Given the description of an element on the screen output the (x, y) to click on. 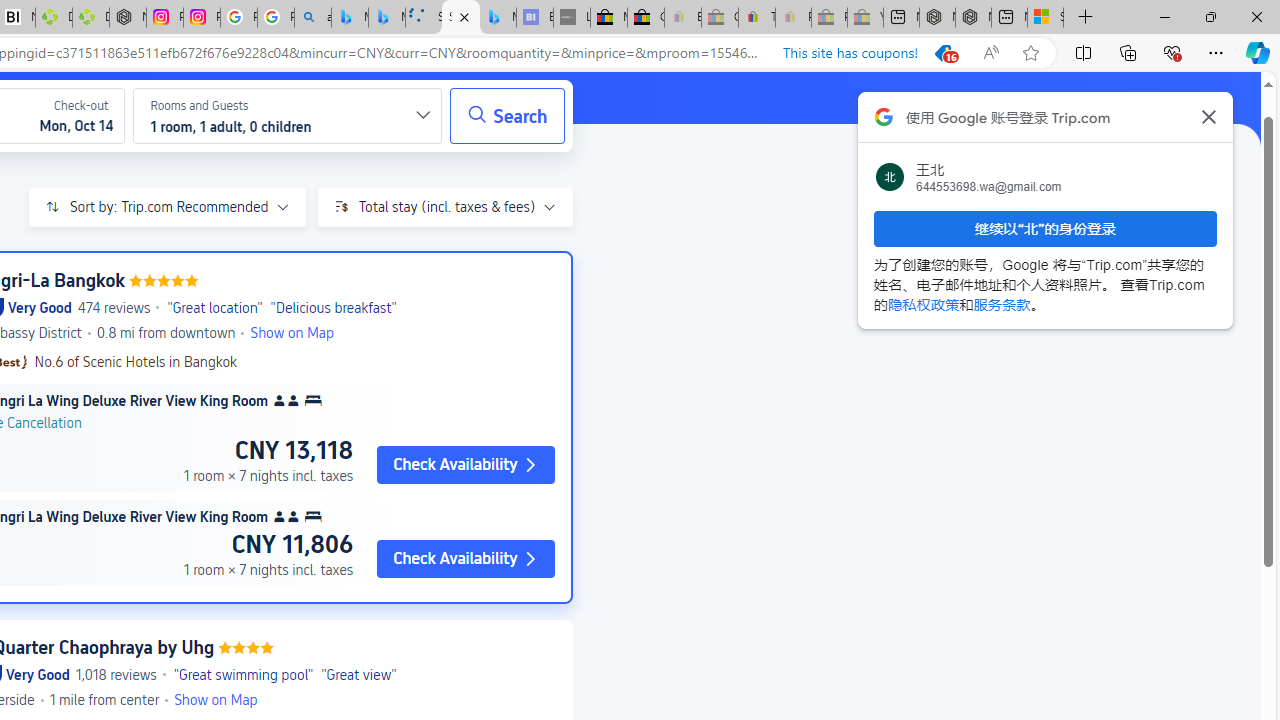
Yard, Garden & Outdoor Living - Sleeping (865, 17)
Descarga Driver Updater (90, 17)
Press Room - eBay Inc. - Sleeping (829, 17)
Nordace - Summer Adventures 2024 (973, 17)
Shangri-La Bangkok, Hotel reviews and Room rates (460, 17)
Payments Terms of Use | eBay.com - Sleeping (793, 17)
